Given the description of an element on the screen output the (x, y) to click on. 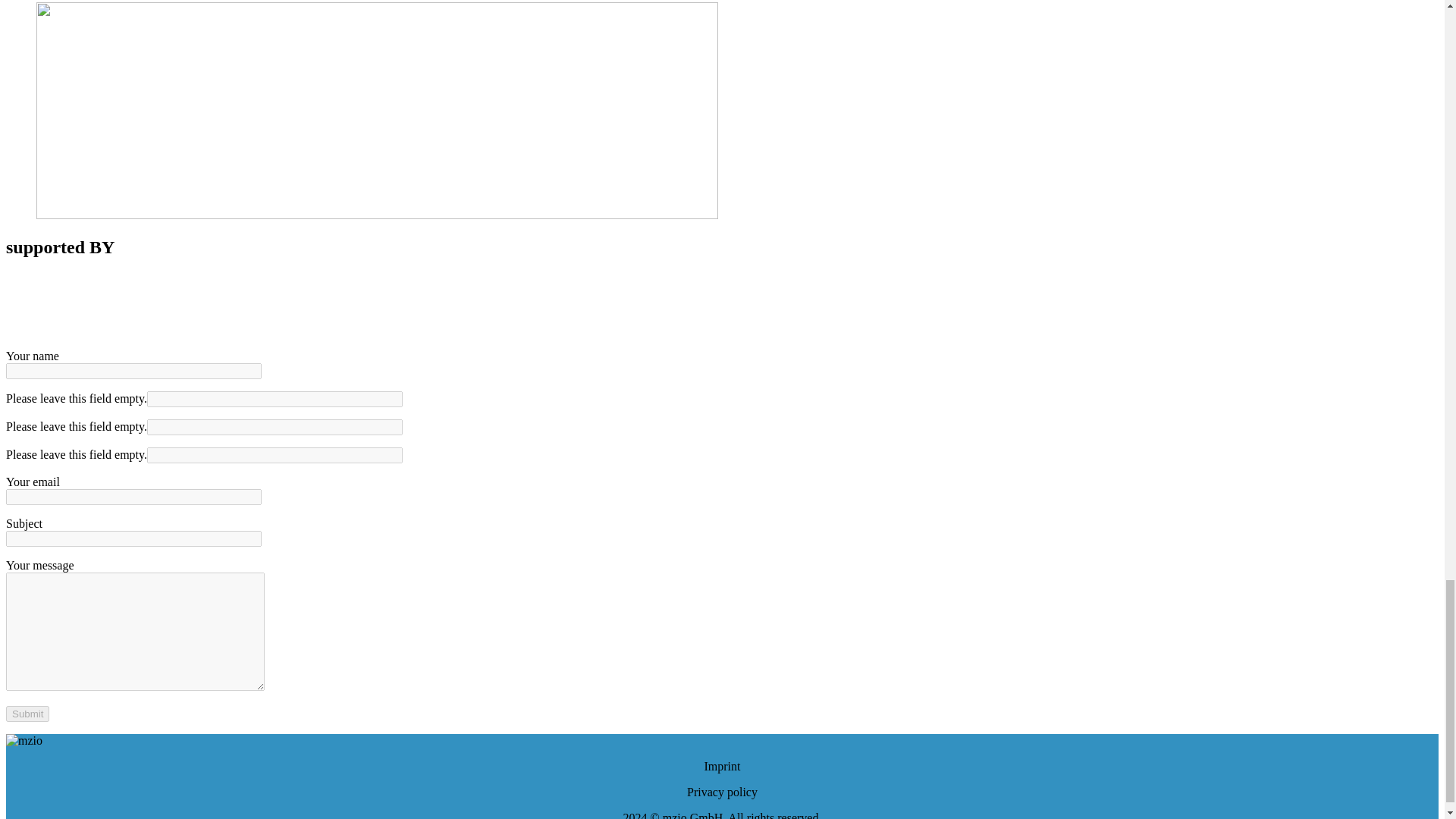
Privacy policy (722, 791)
Imprint (721, 766)
Submit (27, 713)
Submit (27, 713)
